Given the description of an element on the screen output the (x, y) to click on. 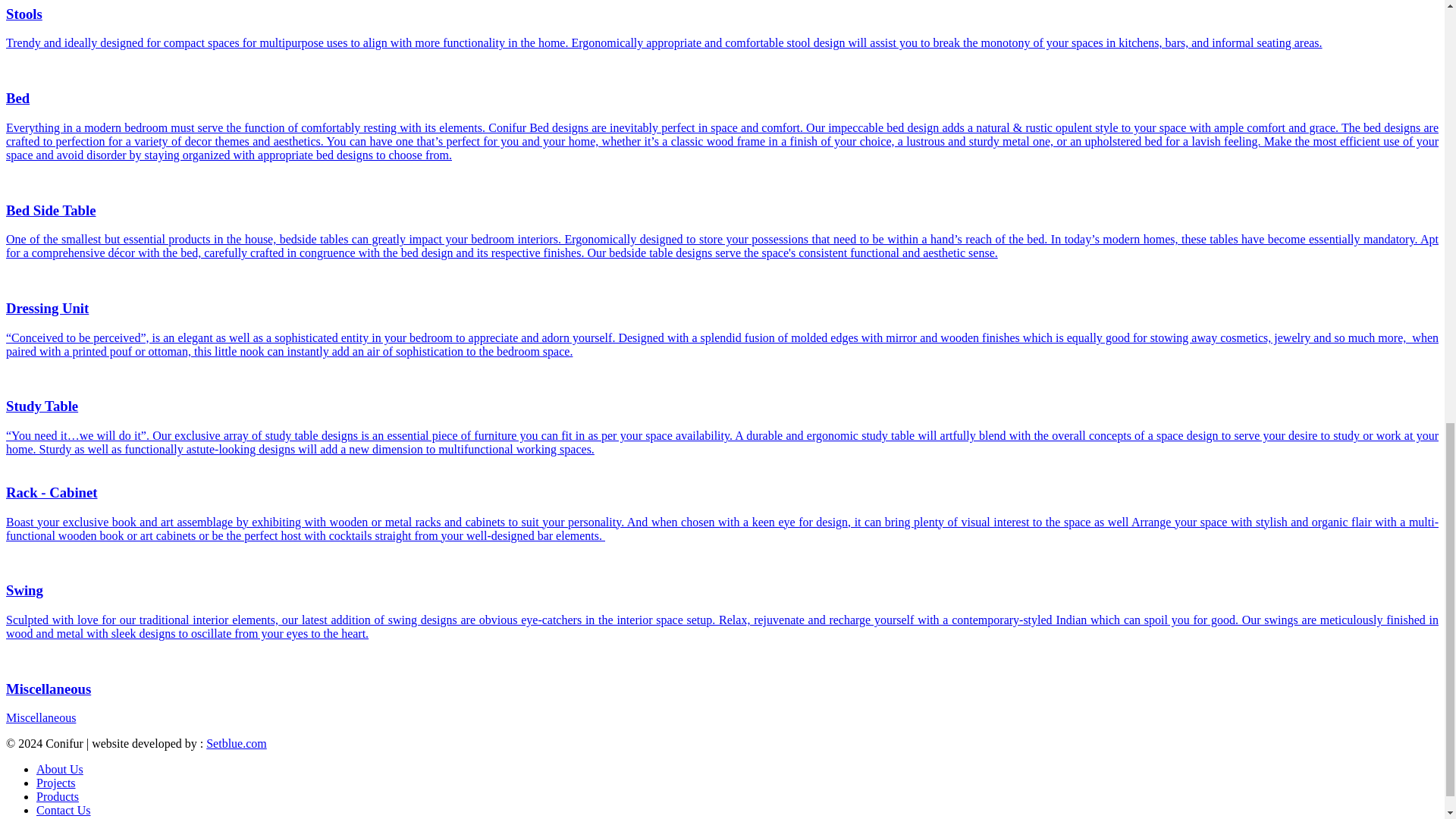
Products (57, 796)
Setblue.com (236, 743)
Contact Us (63, 809)
Projects (55, 782)
About Us (59, 768)
